Given the description of an element on the screen output the (x, y) to click on. 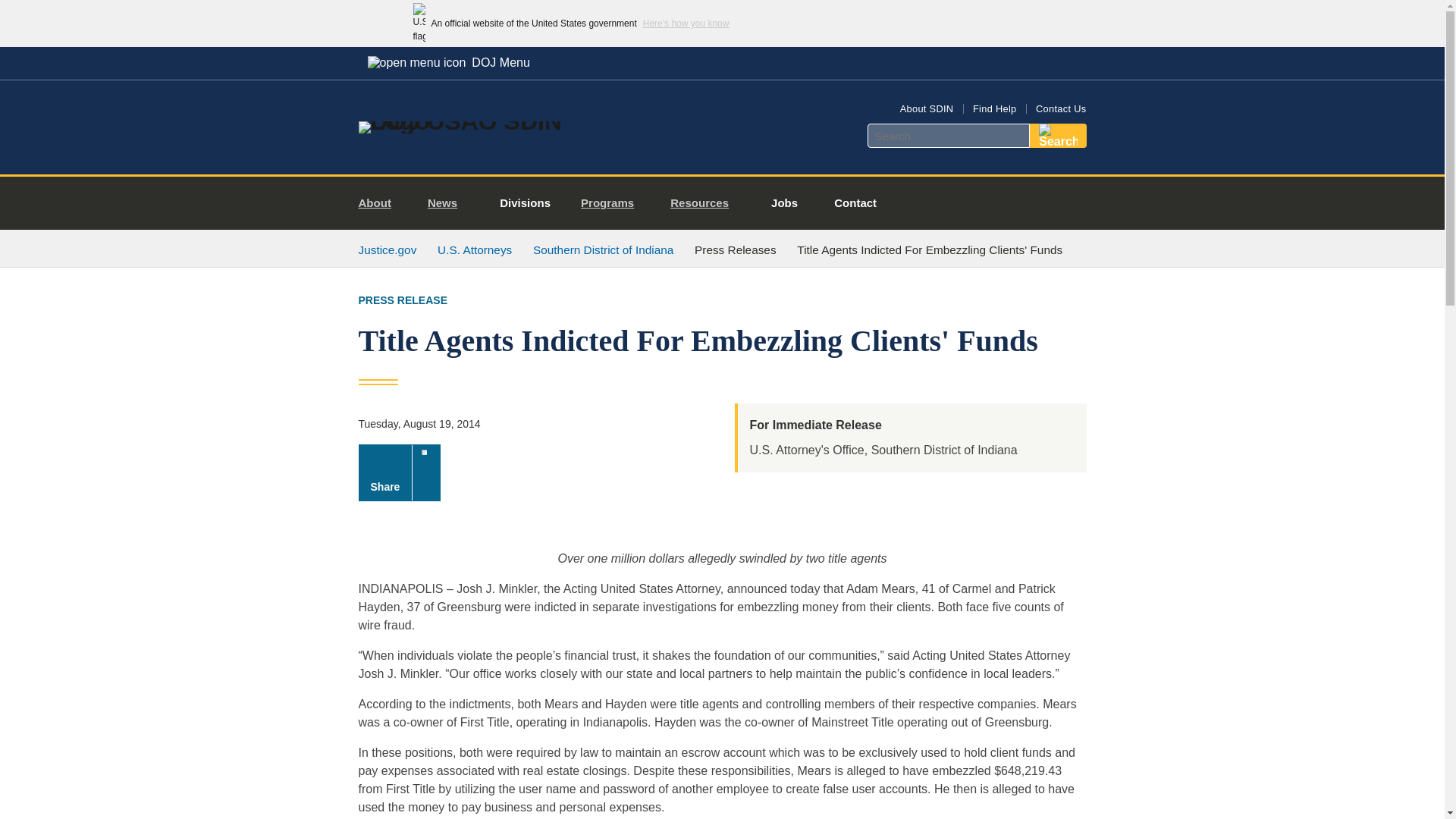
Resources (705, 203)
U.S. Attorneys (475, 249)
Southern District of Indiana (602, 249)
Share (398, 472)
Contact Us (1060, 108)
About (380, 203)
Programs (613, 203)
DOJ Menu (448, 62)
About SDIN (926, 108)
Here's how you know (686, 23)
